Given the description of an element on the screen output the (x, y) to click on. 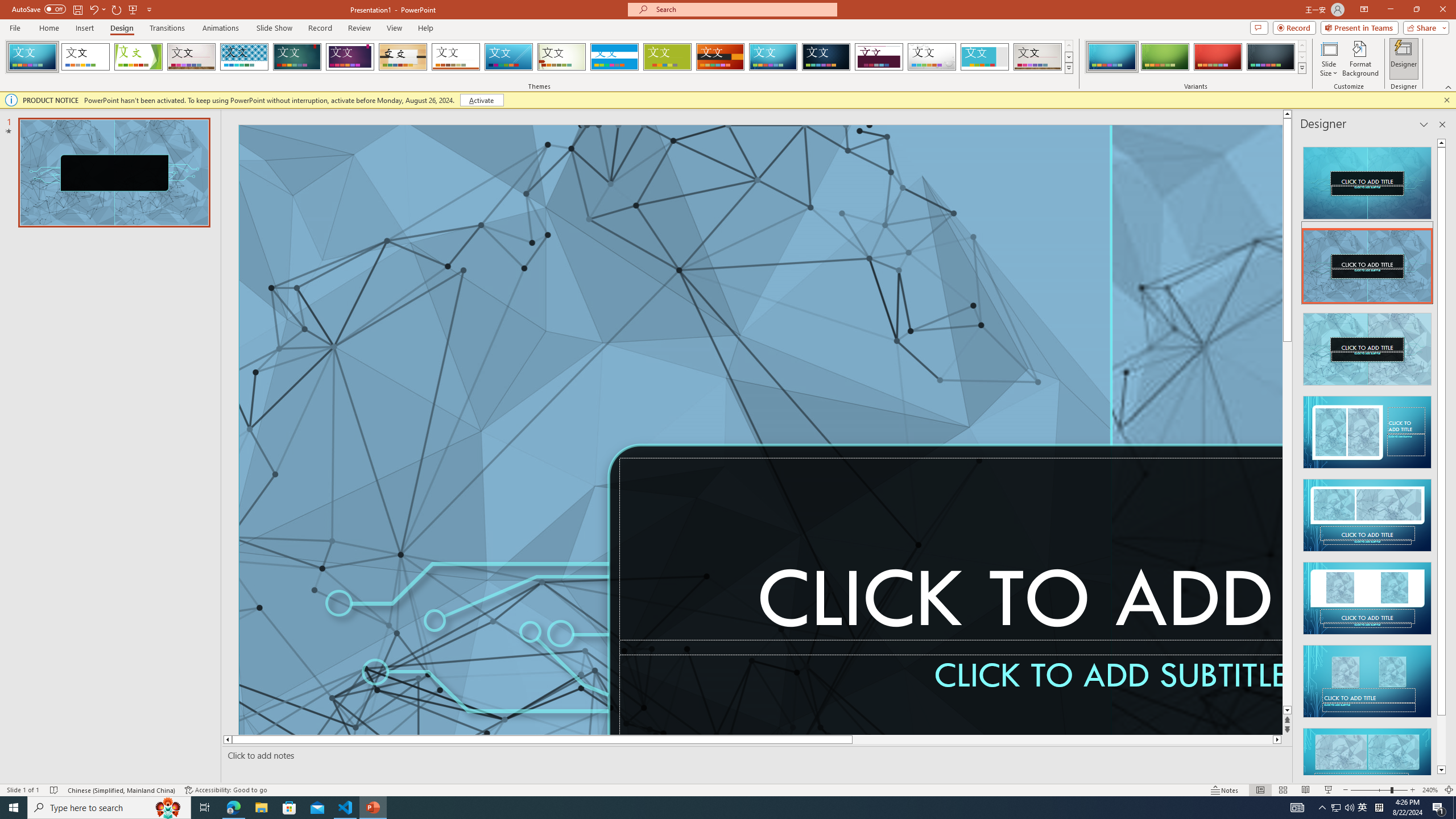
Ion Boardroom (350, 56)
Droplet (931, 56)
Retrospect (455, 56)
Zoom 240% (1430, 790)
